Given the description of an element on the screen output the (x, y) to click on. 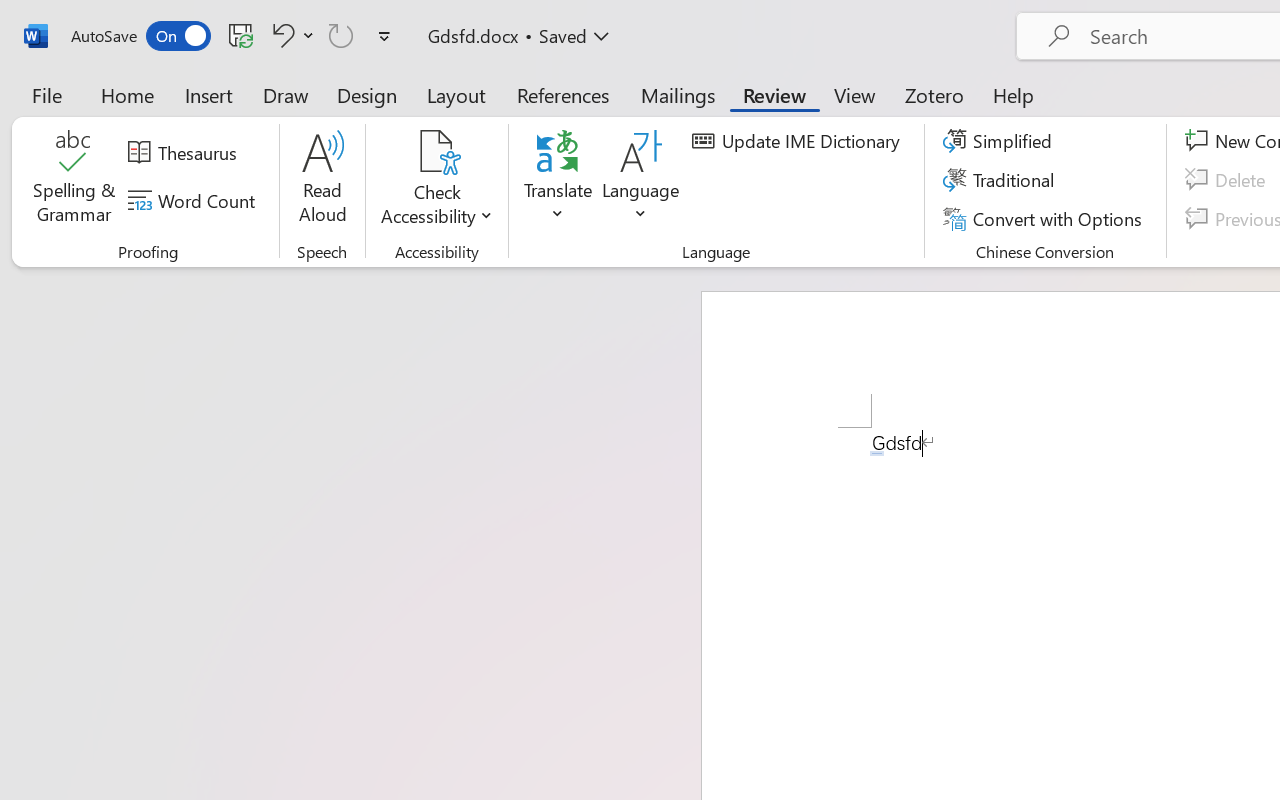
Translate (558, 179)
Delete (1227, 179)
Action: Undo Auto Actions (877, 453)
Word Count (194, 201)
Language (641, 179)
Undo AutoCorrect (280, 35)
